Given the description of an element on the screen output the (x, y) to click on. 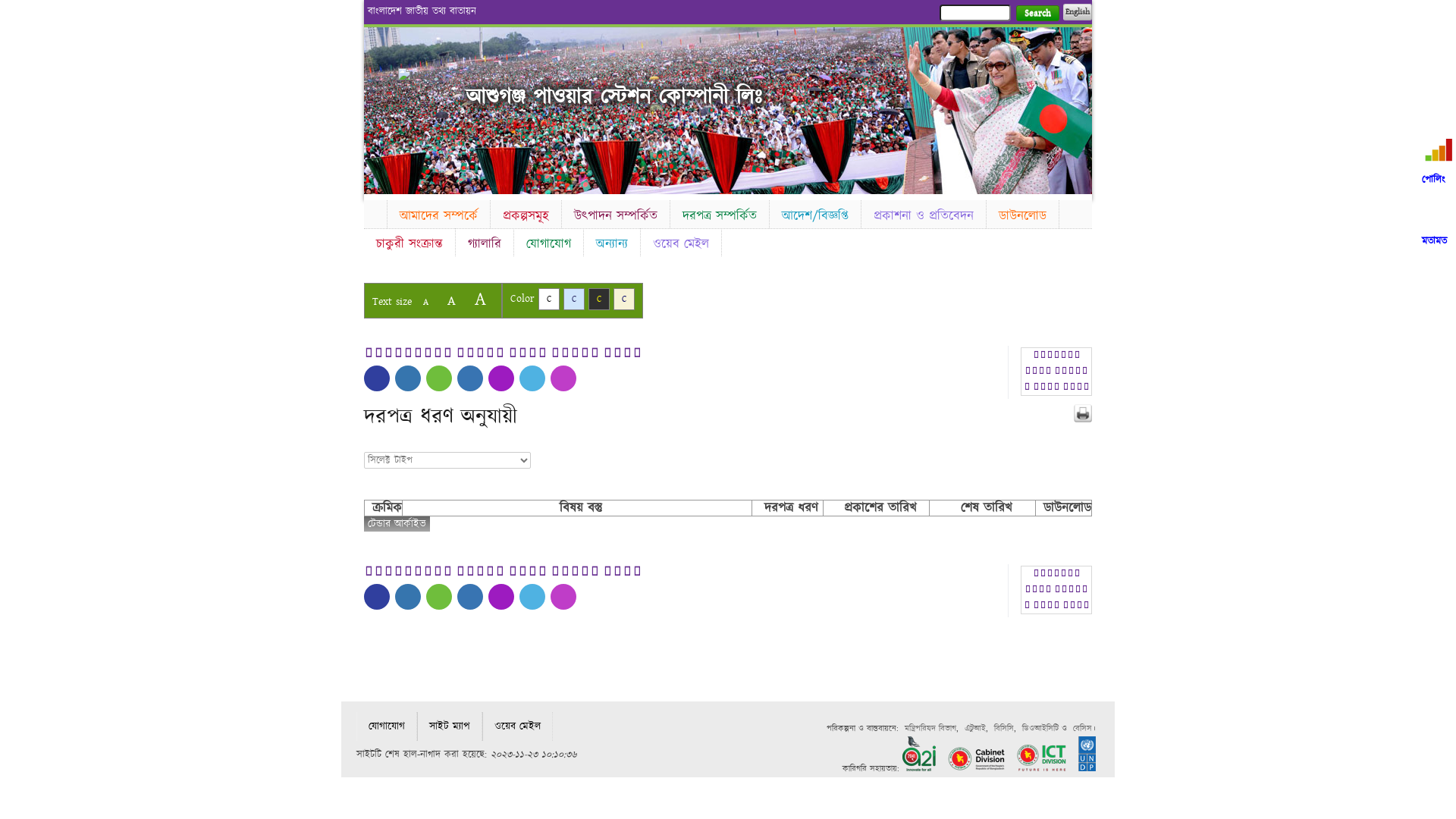
C Element type: text (548, 299)
C Element type: text (623, 299)
A Element type: text (480, 298)
A Element type: text (425, 301)
A Element type: text (451, 300)
C Element type: text (573, 299)
Home Element type: hover (424, 76)
Search Element type: text (1037, 13)
English Element type: text (1077, 11)
C Element type: text (598, 299)
Home Element type: hover (375, 211)
